Given the description of an element on the screen output the (x, y) to click on. 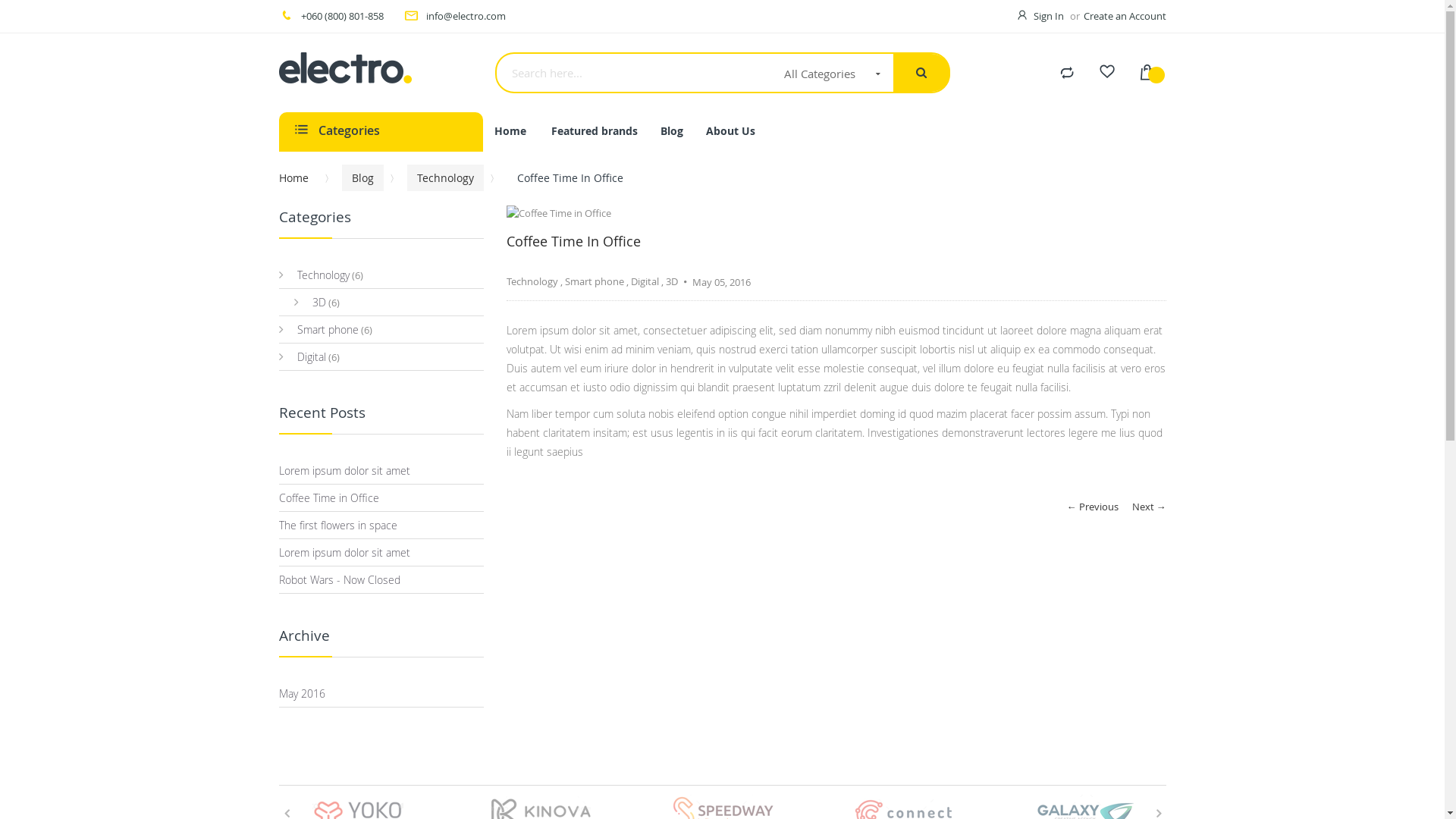
Robot Wars - Now Closed Element type: text (339, 579)
Lorem ipsum dolor sit amet Element type: text (344, 552)
Blog Element type: text (361, 177)
May 2016 Element type: text (302, 693)
Sign In Element type: text (1048, 15)
3D Element type: text (671, 281)
Create an Account Element type: text (1123, 15)
Technology Element type: text (532, 281)
Featured brands Element type: text (594, 130)
3D Element type: text (310, 301)
Technology Element type: text (444, 177)
Search Element type: hover (921, 72)
alothemes Element type: hover (381, 67)
Blog Element type: text (671, 130)
Digital Element type: text (644, 281)
Home Element type: text (298, 177)
Smart phone Element type: text (318, 329)
Lorem ipsum dolor sit amet Element type: text (344, 470)
Coffee Time In Office Element type: text (573, 241)
Smart phone Element type: text (593, 281)
About Us Element type: text (730, 130)
Home Element type: text (510, 130)
Digital Element type: text (302, 356)
My wishlist Element type: hover (1106, 73)
Technology Element type: text (314, 274)
Compare Element type: hover (1066, 73)
Coffee Time in Office Element type: text (329, 497)
The first flowers in space Element type: text (338, 524)
